Given the description of an element on the screen output the (x, y) to click on. 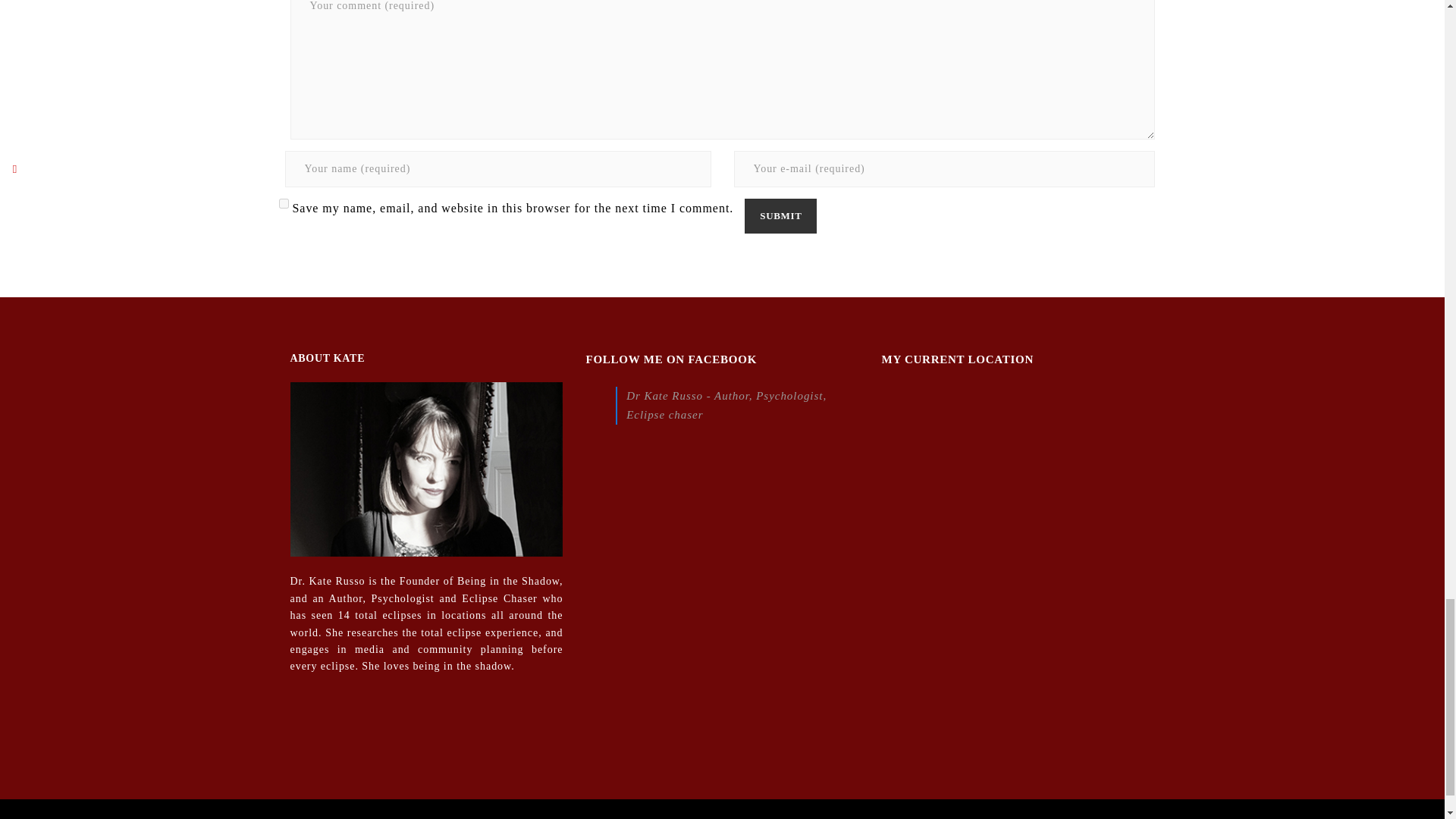
yes (283, 203)
Submit (780, 216)
